Given the description of an element on the screen output the (x, y) to click on. 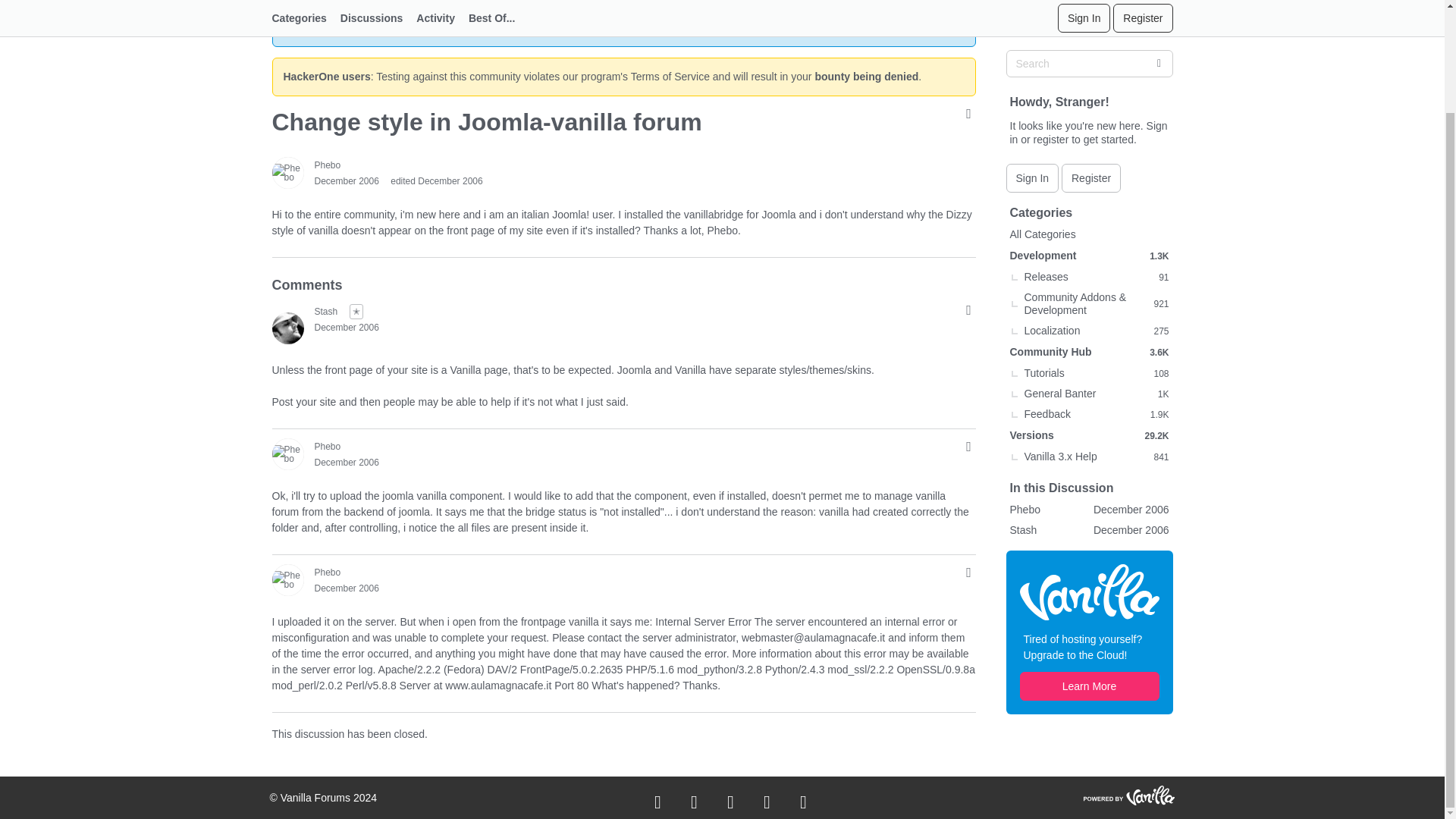
December 21, 2006 6:44PM (346, 327)
Edited December 24, 2006 7:48AM by Phebo. (435, 181)
December 2006 (346, 327)
Phebo (327, 164)
Vanilla (1088, 549)
here (672, 27)
December 2006 (346, 181)
Level 1 (355, 311)
Phebo (286, 173)
Enter your search term. (1089, 22)
Stash (286, 327)
Phebo (327, 572)
Phebo (286, 454)
Go (1158, 22)
Phebo (286, 580)
